Given the description of an element on the screen output the (x, y) to click on. 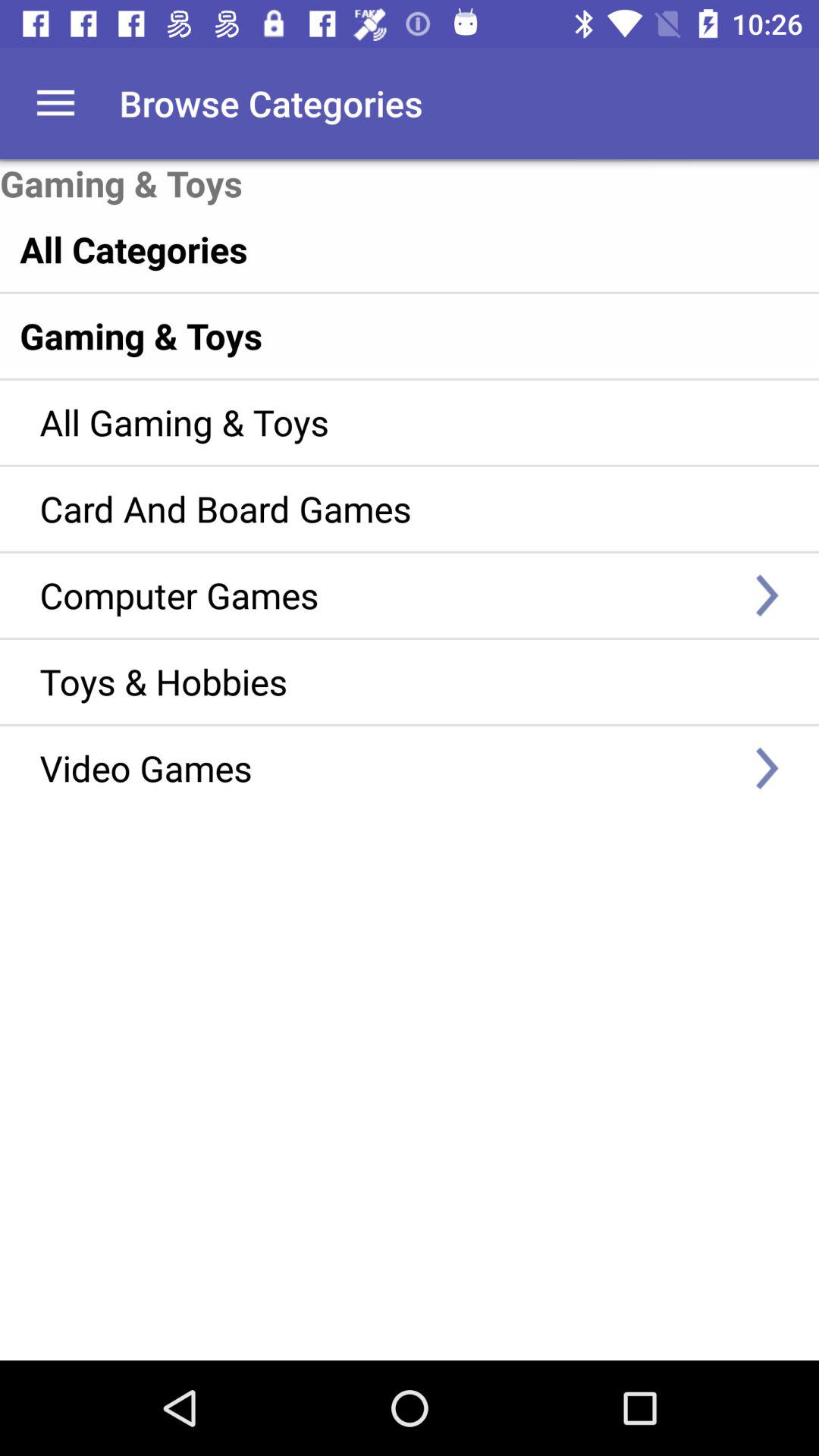
scroll to the toys & hobbies (387, 681)
